Given the description of an element on the screen output the (x, y) to click on. 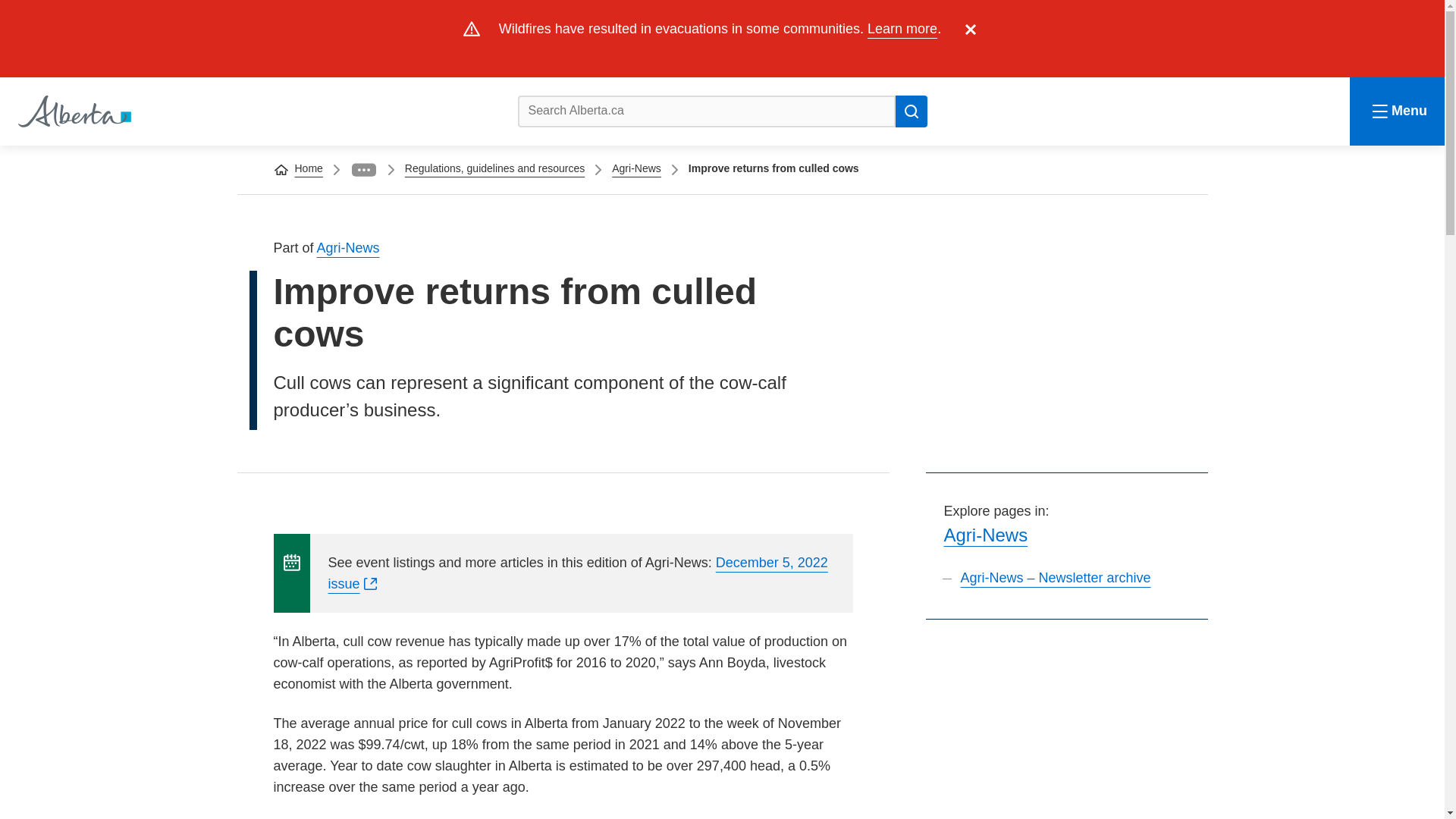
Active emergency updates (902, 28)
Learn more (902, 28)
close (970, 29)
Alberta.ca (73, 111)
Agri-News (348, 247)
Regulations, guidelines and resources (494, 168)
Home (73, 111)
Agri-News (636, 168)
Home (307, 168)
